Given the description of an element on the screen output the (x, y) to click on. 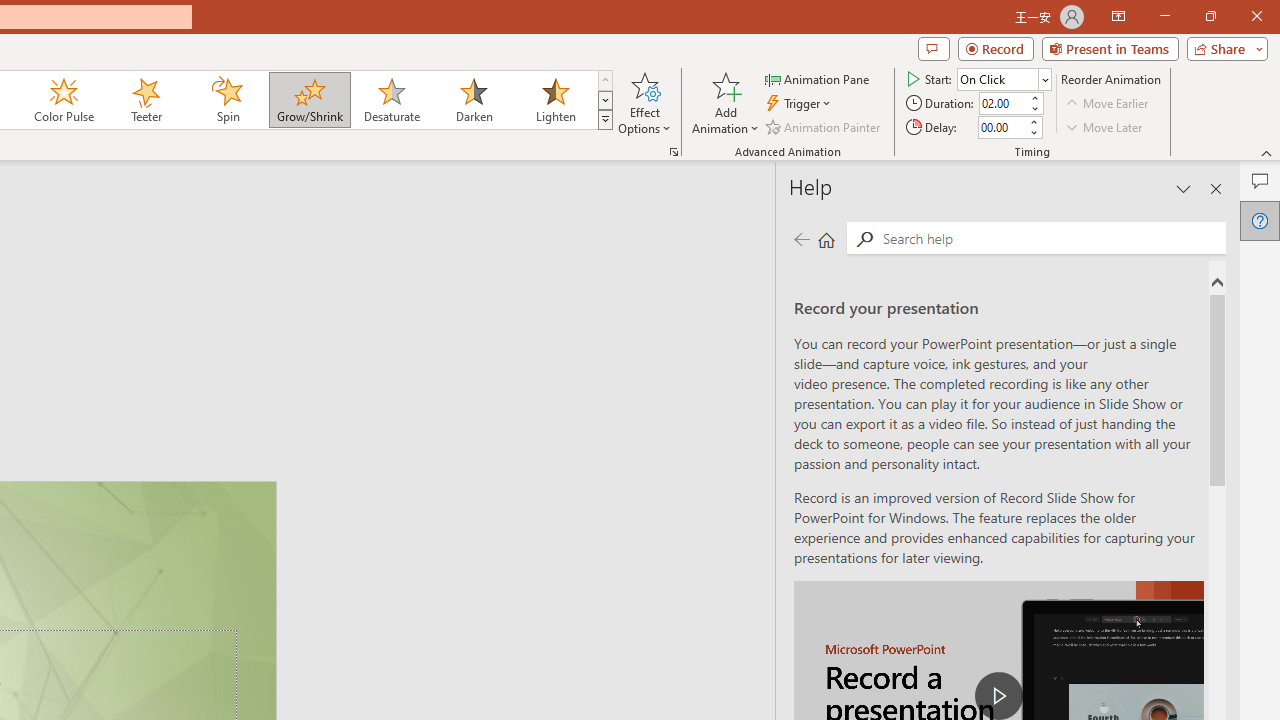
Add Animation (725, 102)
Previous page (801, 238)
Move Later (1105, 126)
Animation Painter (824, 126)
More Options... (673, 151)
Trigger (799, 103)
Animation Duration (1003, 103)
